Given the description of an element on the screen output the (x, y) to click on. 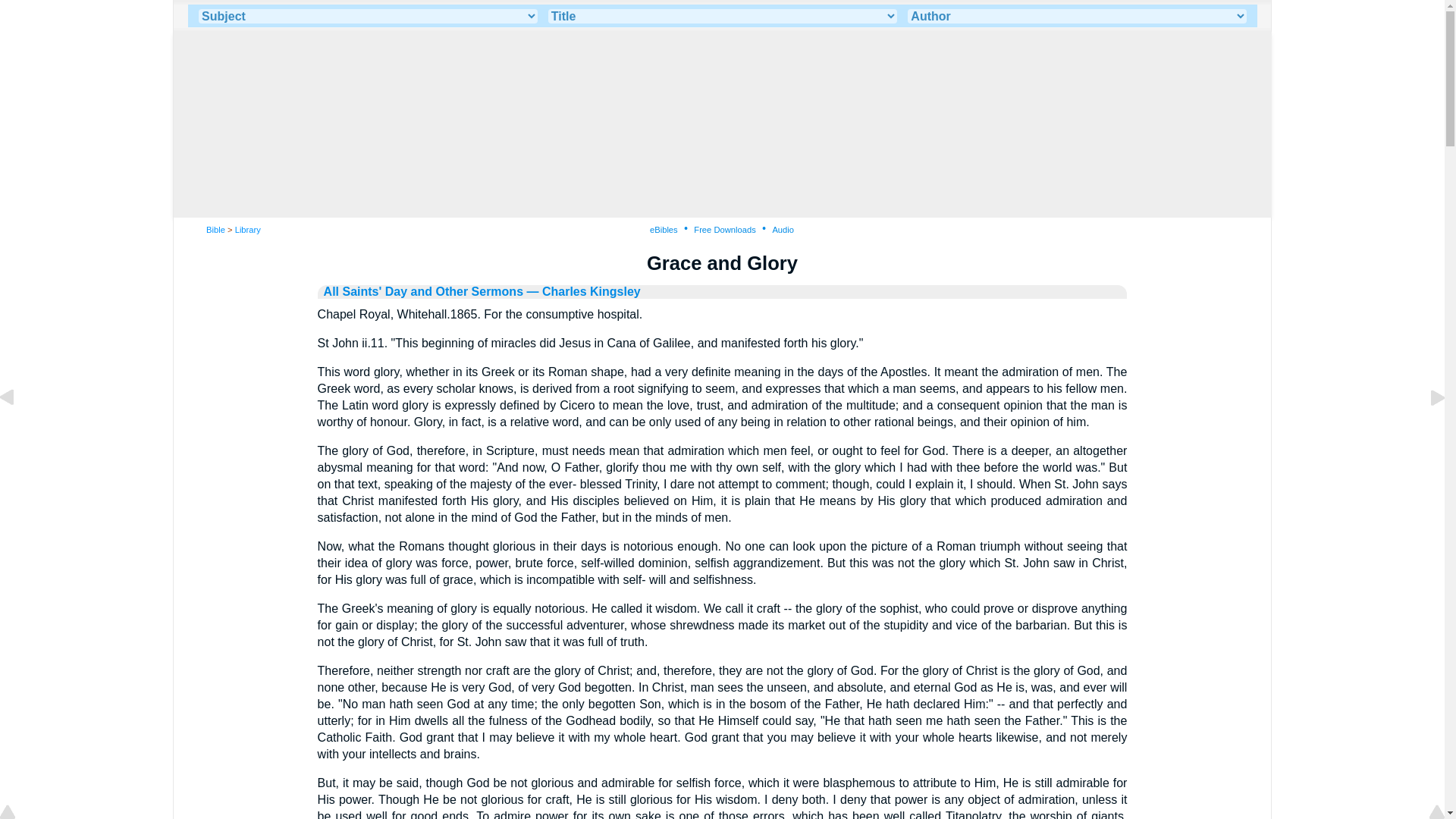
Library (247, 229)
All Saints' Day and Other Sermons (422, 291)
sermon xxxiv national sorrows and (18, 431)
Bible (215, 229)
Top of Page (18, 813)
